Given the description of an element on the screen output the (x, y) to click on. 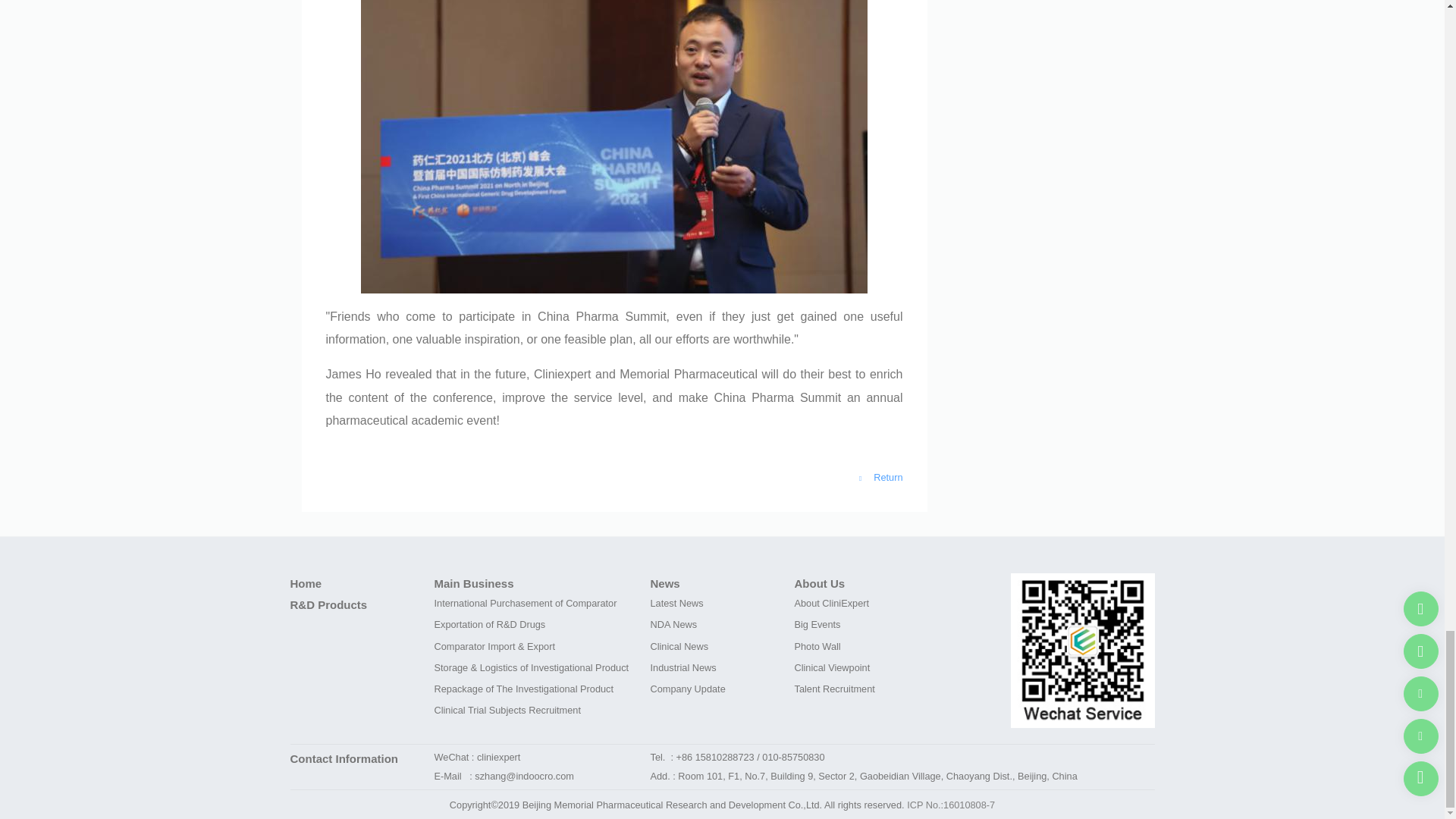
Return (880, 477)
